Given the description of an element on the screen output the (x, y) to click on. 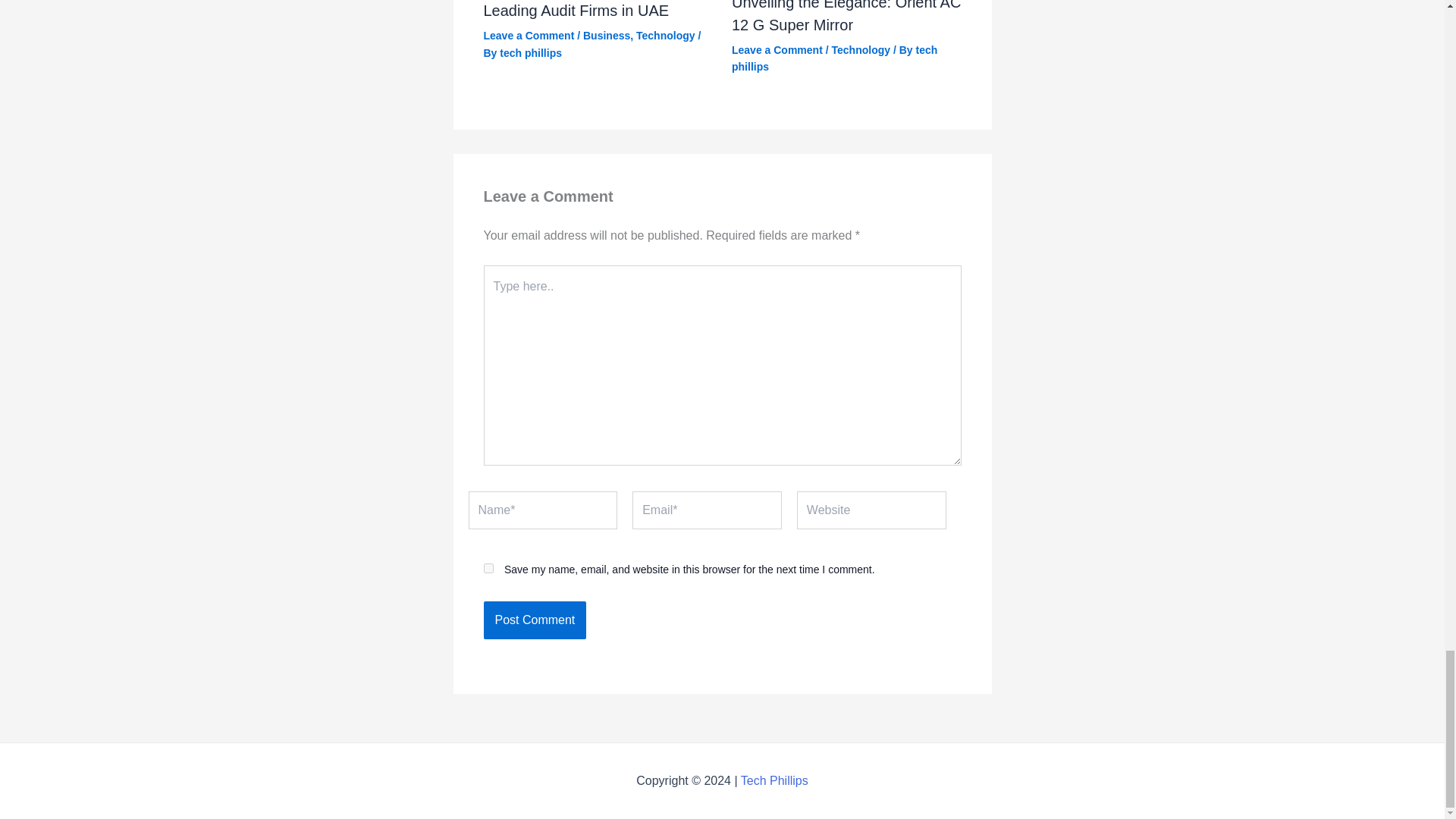
View all posts by tech phillips (530, 52)
Post Comment (534, 620)
yes (488, 568)
